Given the description of an element on the screen output the (x, y) to click on. 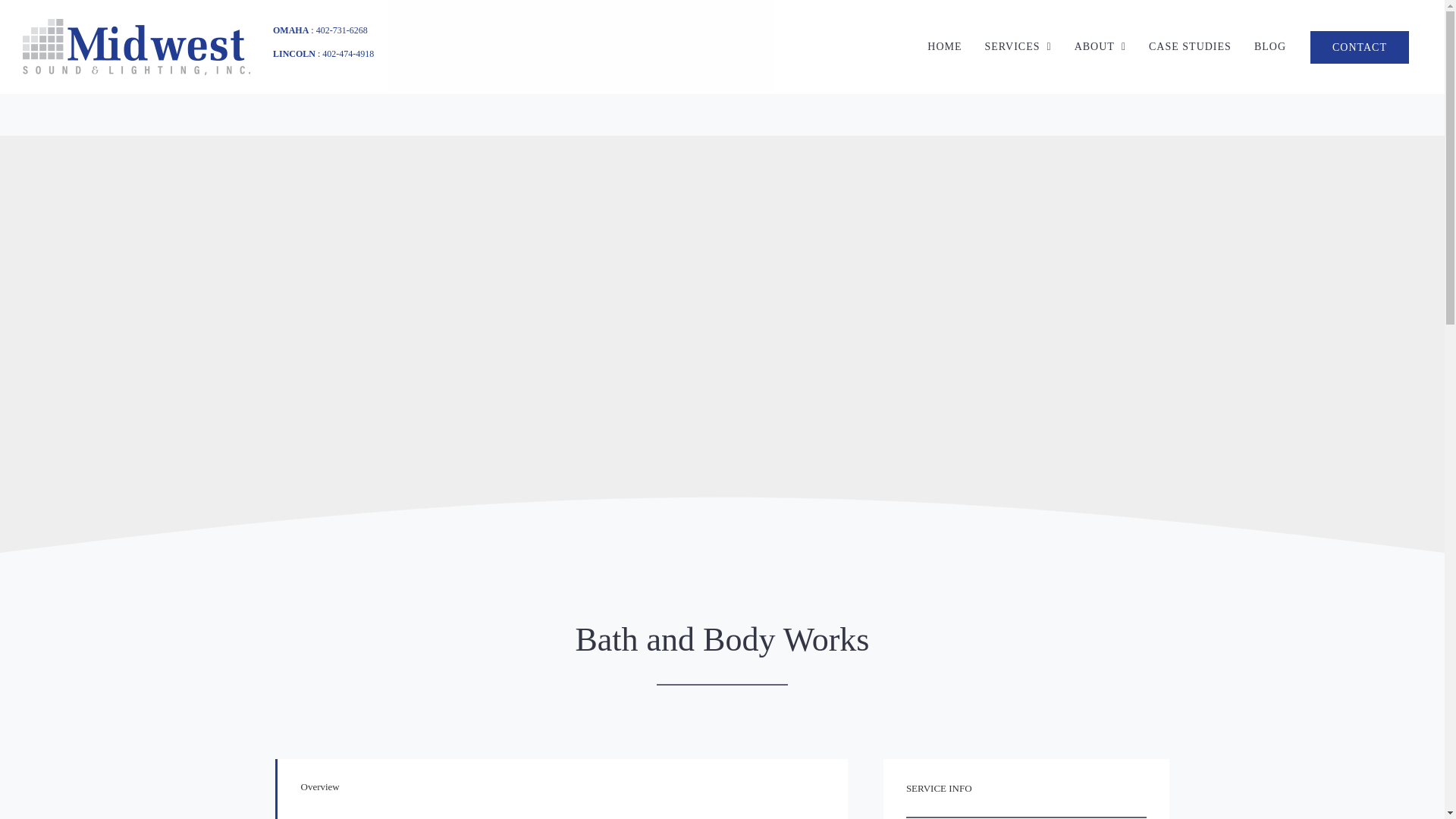
SERVICES (1018, 47)
402-731-6268 (341, 30)
CONTACT (1359, 47)
402-474-4918 (347, 53)
CASE STUDIES (1190, 47)
